Given the description of an element on the screen output the (x, y) to click on. 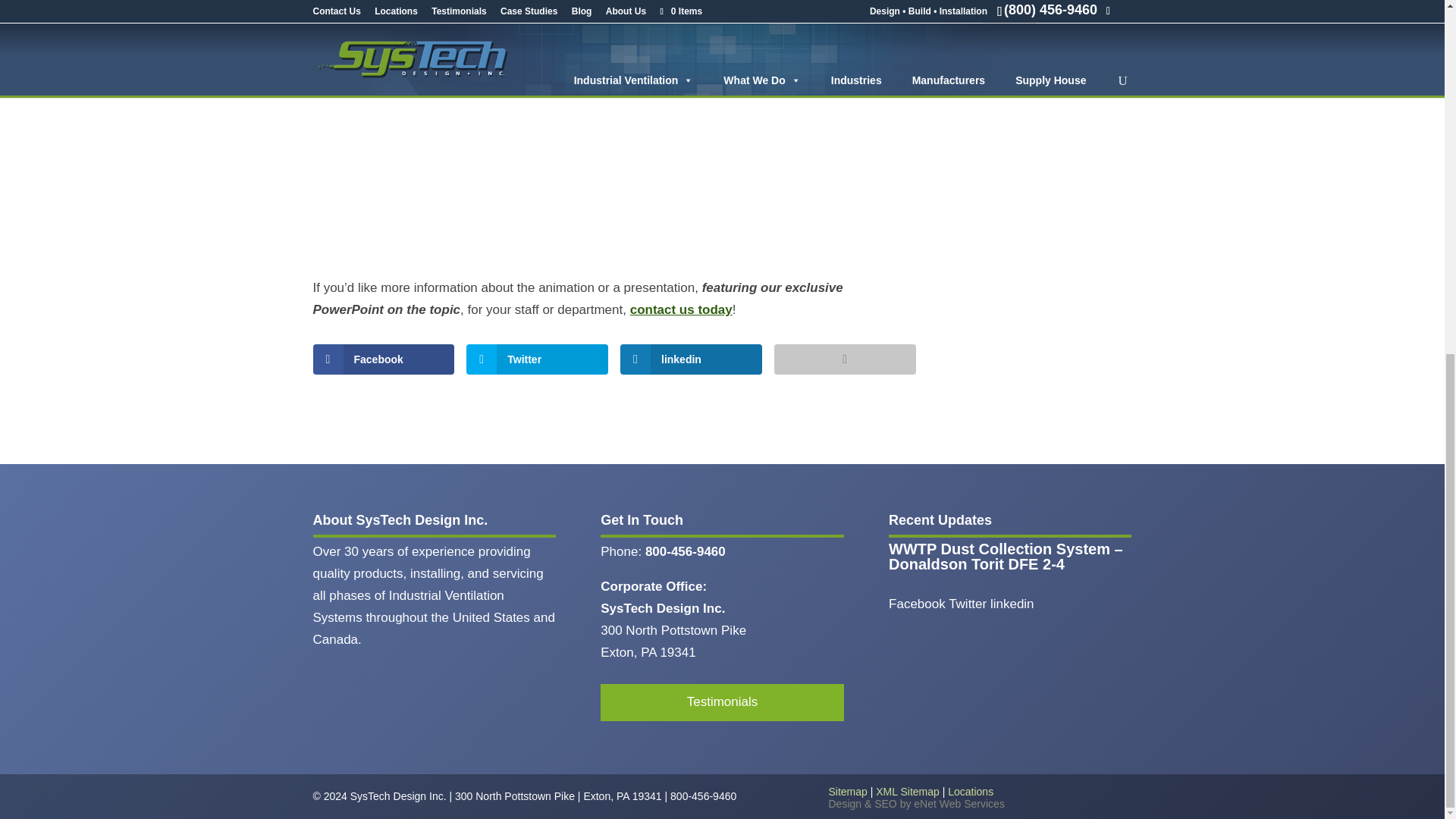
Contact Us (681, 309)
